Given the description of an element on the screen output the (x, y) to click on. 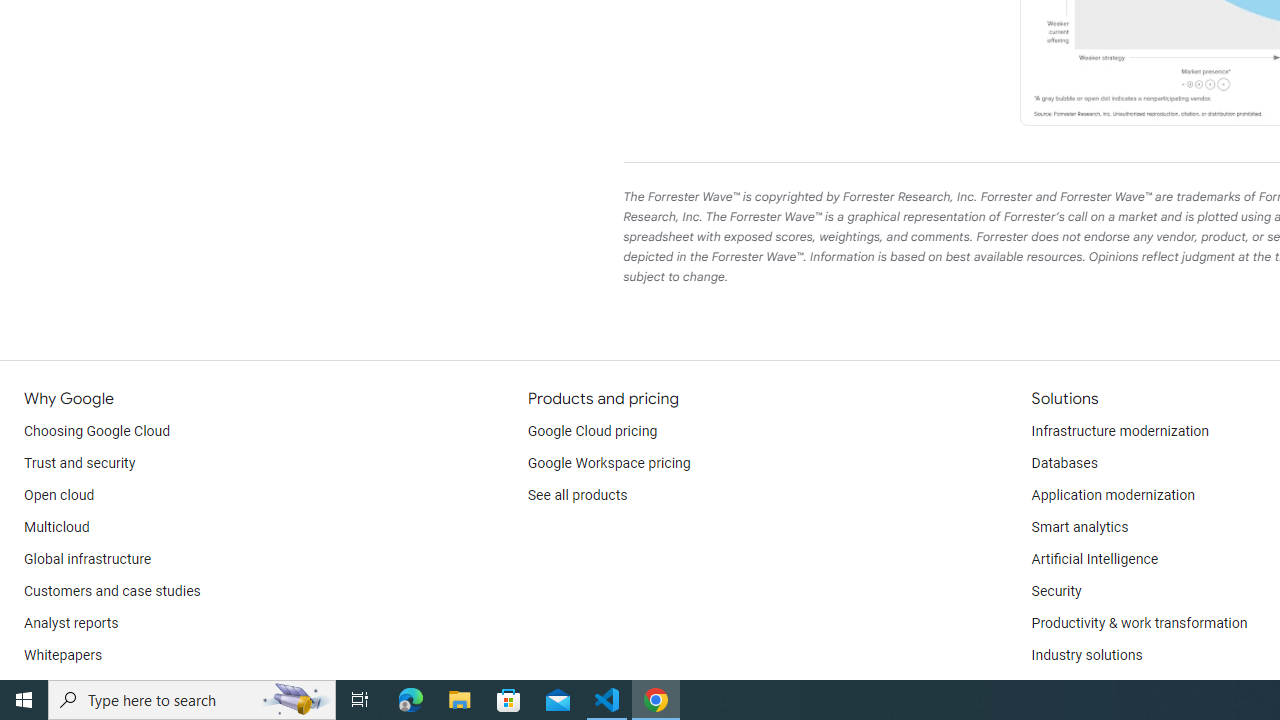
See all products (577, 495)
Analyst reports (71, 623)
Google Cloud pricing (592, 431)
Productivity & work transformation (1139, 623)
Industry solutions (1086, 655)
Whitepapers (63, 655)
Open cloud (59, 495)
